Given the description of an element on the screen output the (x, y) to click on. 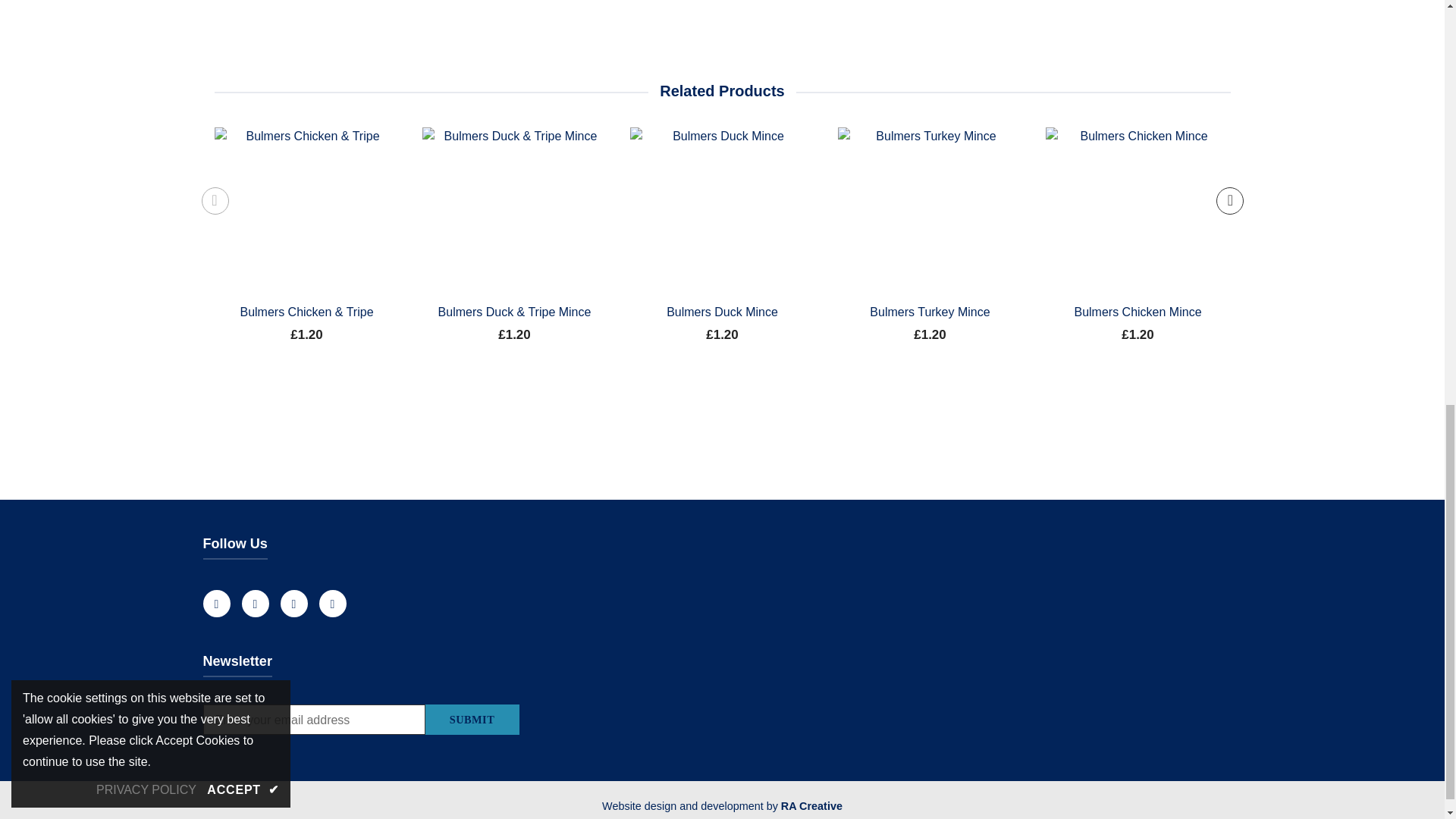
Submit (471, 719)
